Given the description of an element on the screen output the (x, y) to click on. 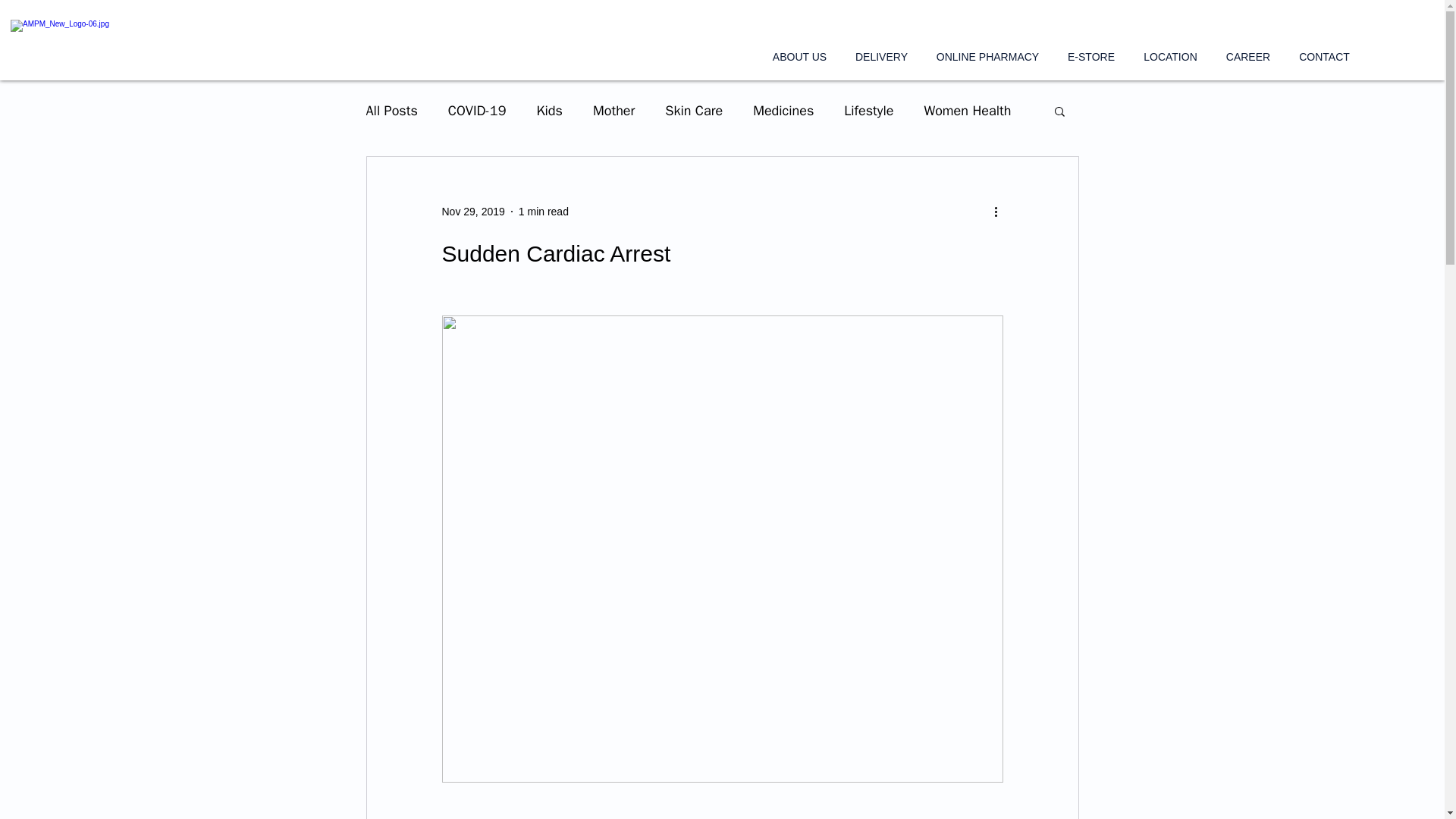
Nov 29, 2019 (472, 210)
Kids (548, 110)
All Posts (390, 110)
COVID-19 (477, 110)
ONLINE PHARMACY (986, 56)
LOCATION (1170, 56)
Medicines (782, 110)
CAREER (1247, 56)
1 min read (543, 210)
Lifestyle (868, 110)
E-STORE (1090, 56)
Skin Care (693, 110)
Mother (613, 110)
ABOUT US (799, 56)
DELIVERY (881, 56)
